Given the description of an element on the screen output the (x, y) to click on. 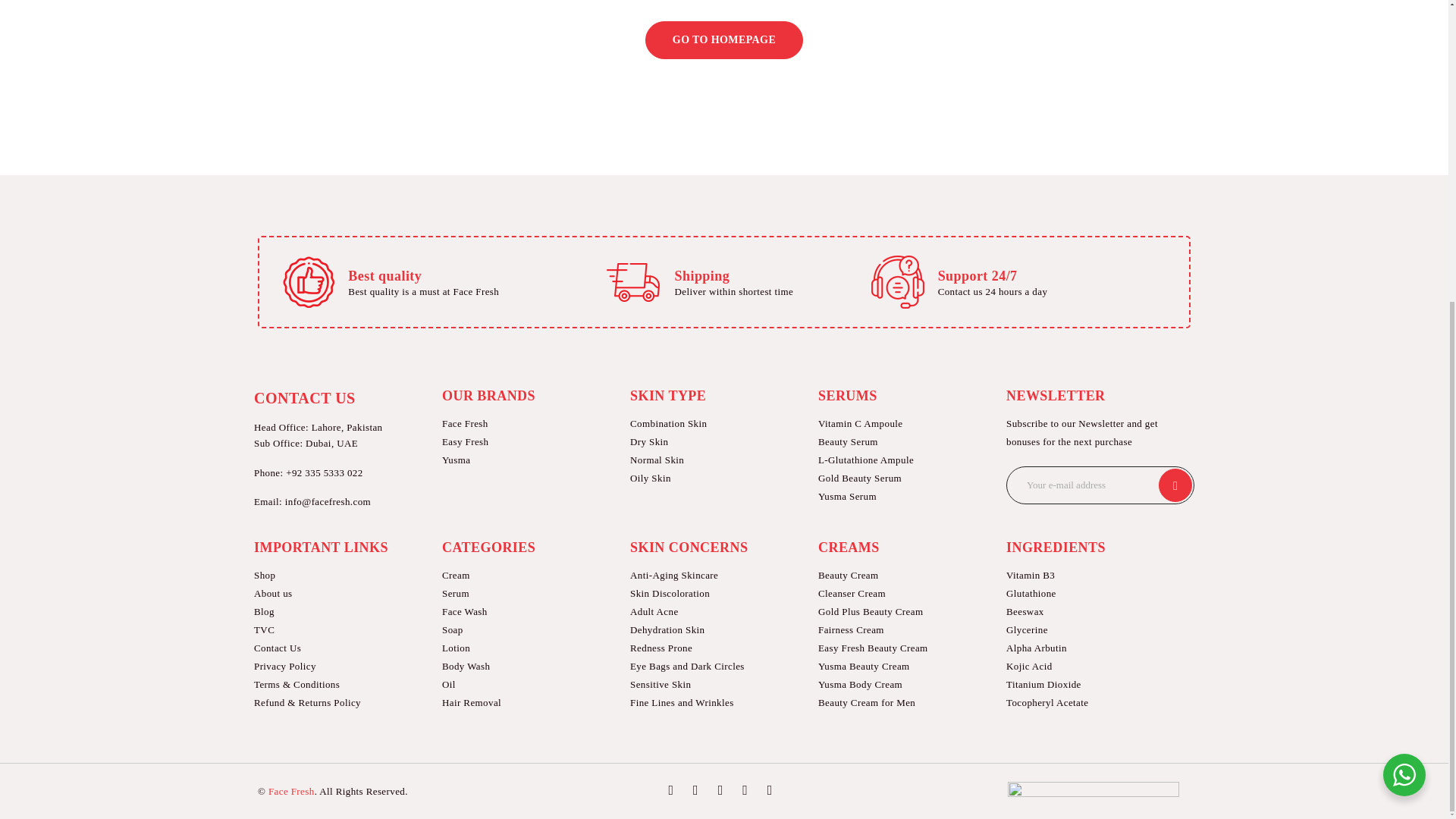
See Us (770, 789)
See Us (720, 789)
Watch Us (695, 789)
See Us (745, 789)
Become our fan (671, 789)
